Given the description of an element on the screen output the (x, y) to click on. 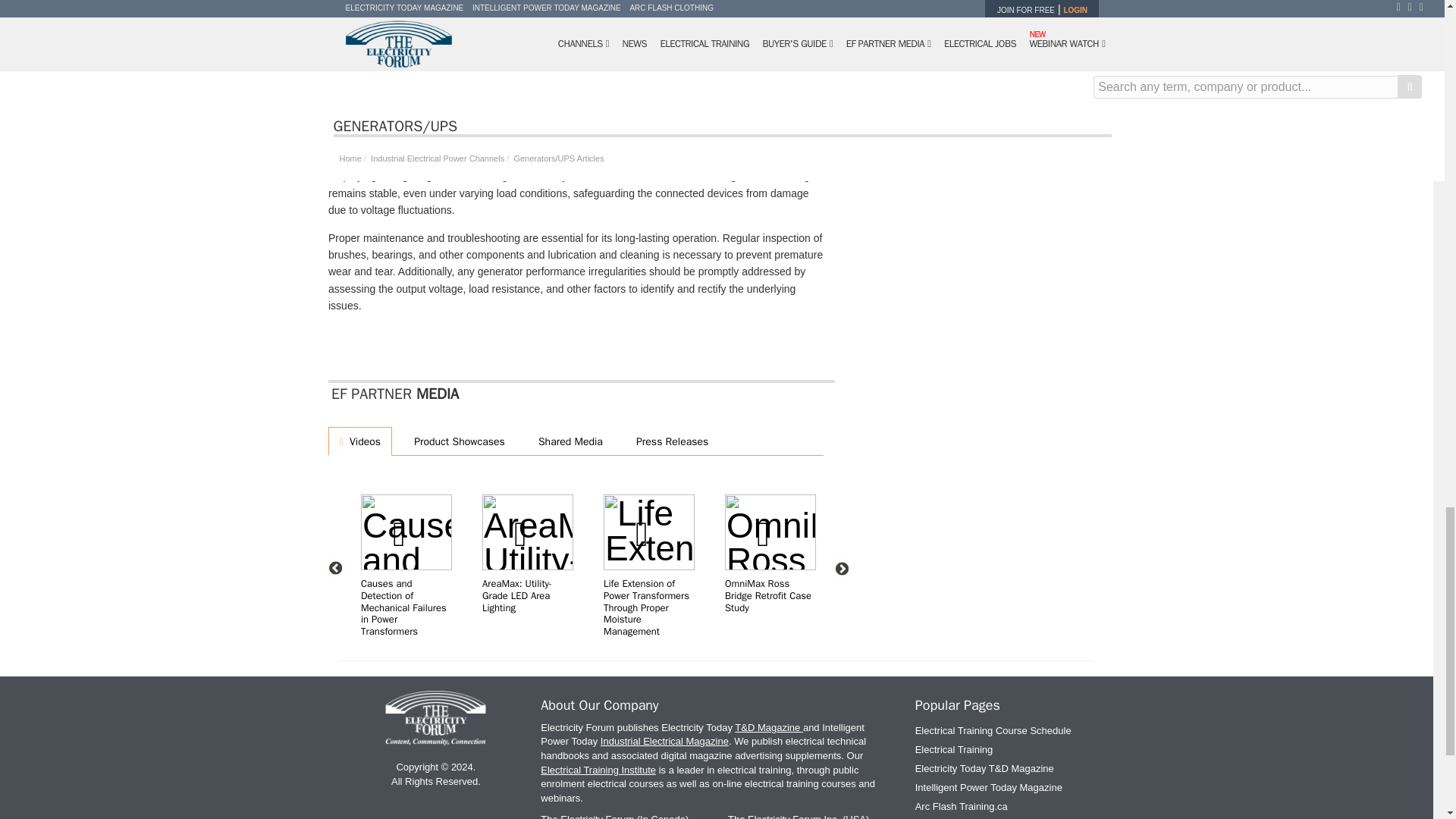
Shared Media (567, 440)
Product Showcases (456, 440)
Videos (360, 440)
